Given the description of an element on the screen output the (x, y) to click on. 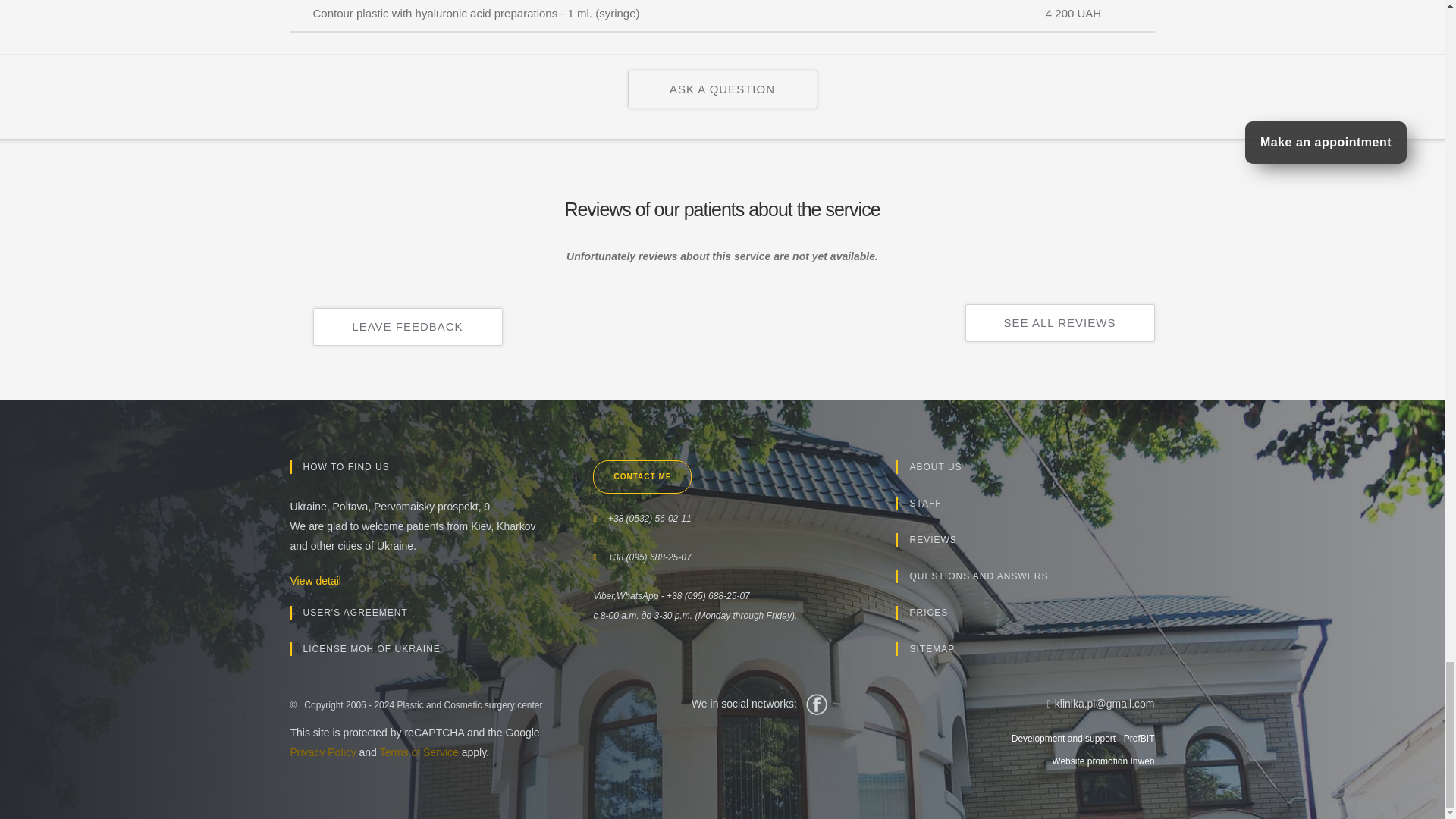
 Website promotion Inweb (1017, 761)
 Development and support - ProfBIT (1017, 738)
